Given the description of an element on the screen output the (x, y) to click on. 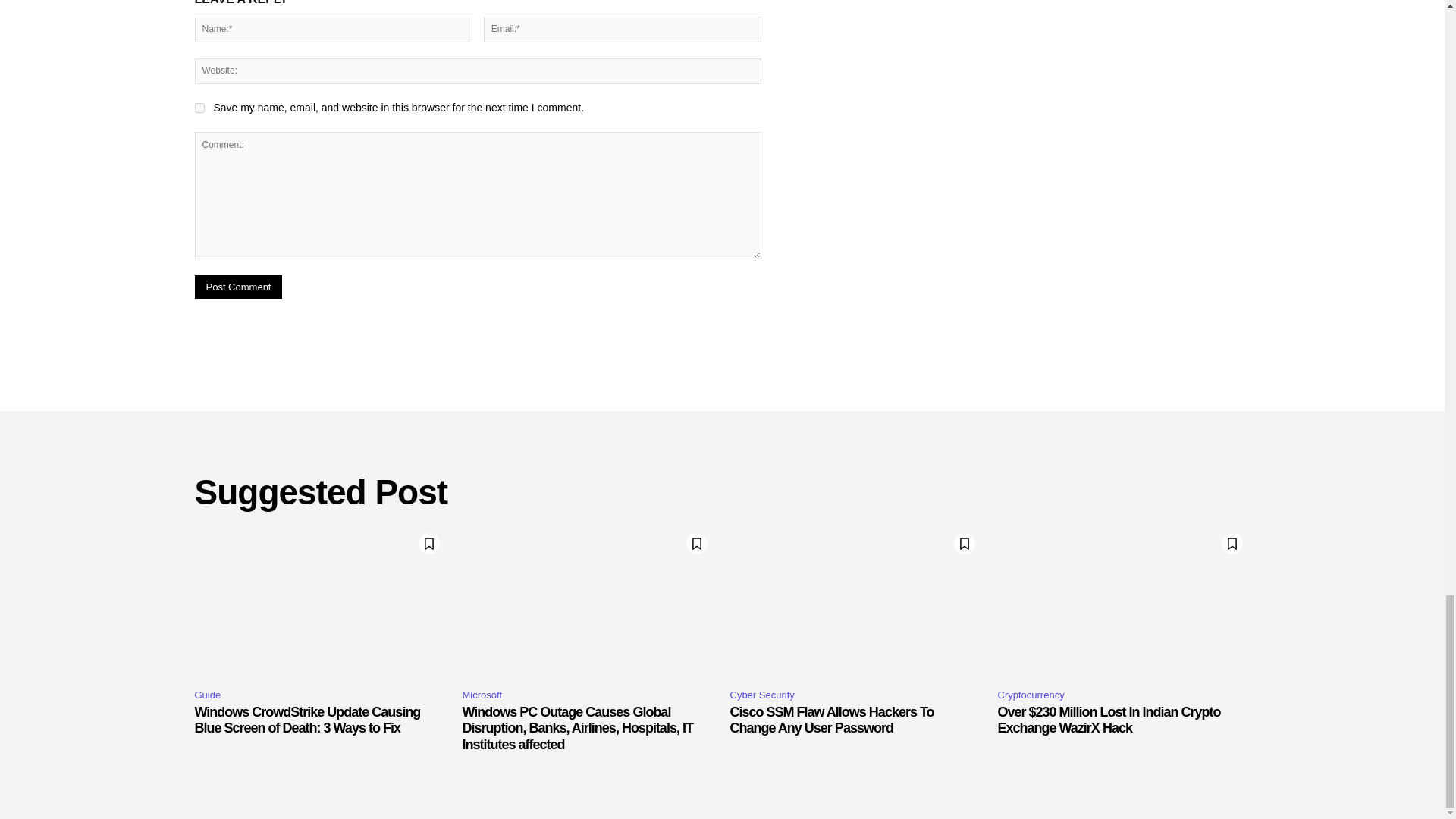
Post Comment (237, 286)
Post Comment (237, 286)
yes (198, 108)
